Given the description of an element on the screen output the (x, y) to click on. 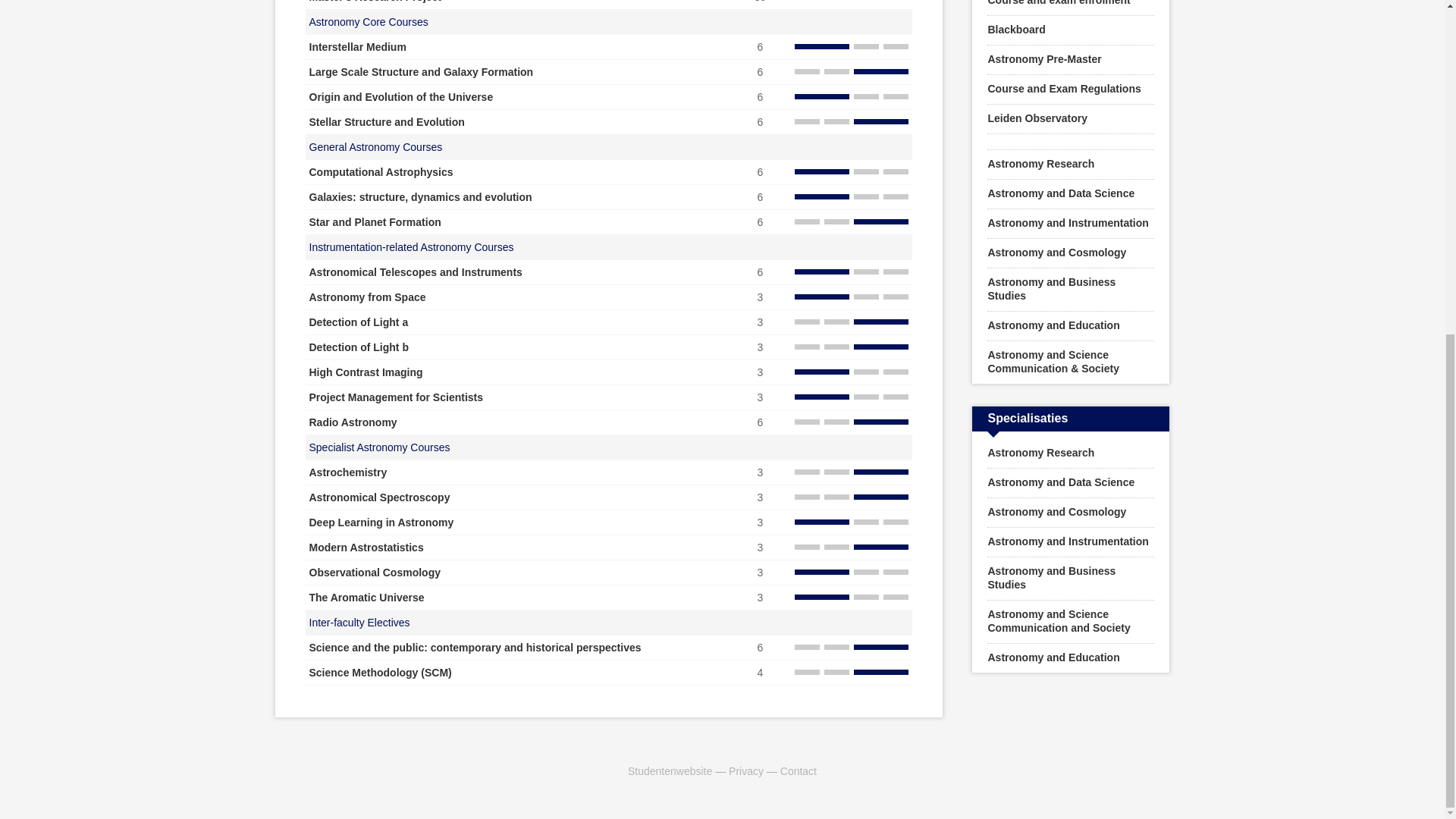
Astrochemistry (347, 472)
Master's Research Project (375, 1)
Star and Planet Formation (374, 222)
Modern Astrostatistics (365, 547)
Origin and Evolution of the Universe (400, 96)
Project Management for Scientists (395, 397)
Deep Learning in Astronomy (381, 522)
Astronomy from Space (367, 297)
Stellar Structure and Evolution (386, 121)
High Contrast Imaging (365, 372)
The Aromatic Universe (366, 597)
Radio Astronomy (352, 422)
Astronomical Telescopes and Instruments (415, 272)
Detection of Light a (358, 322)
Astronomical Spectroscopy (378, 497)
